Given the description of an element on the screen output the (x, y) to click on. 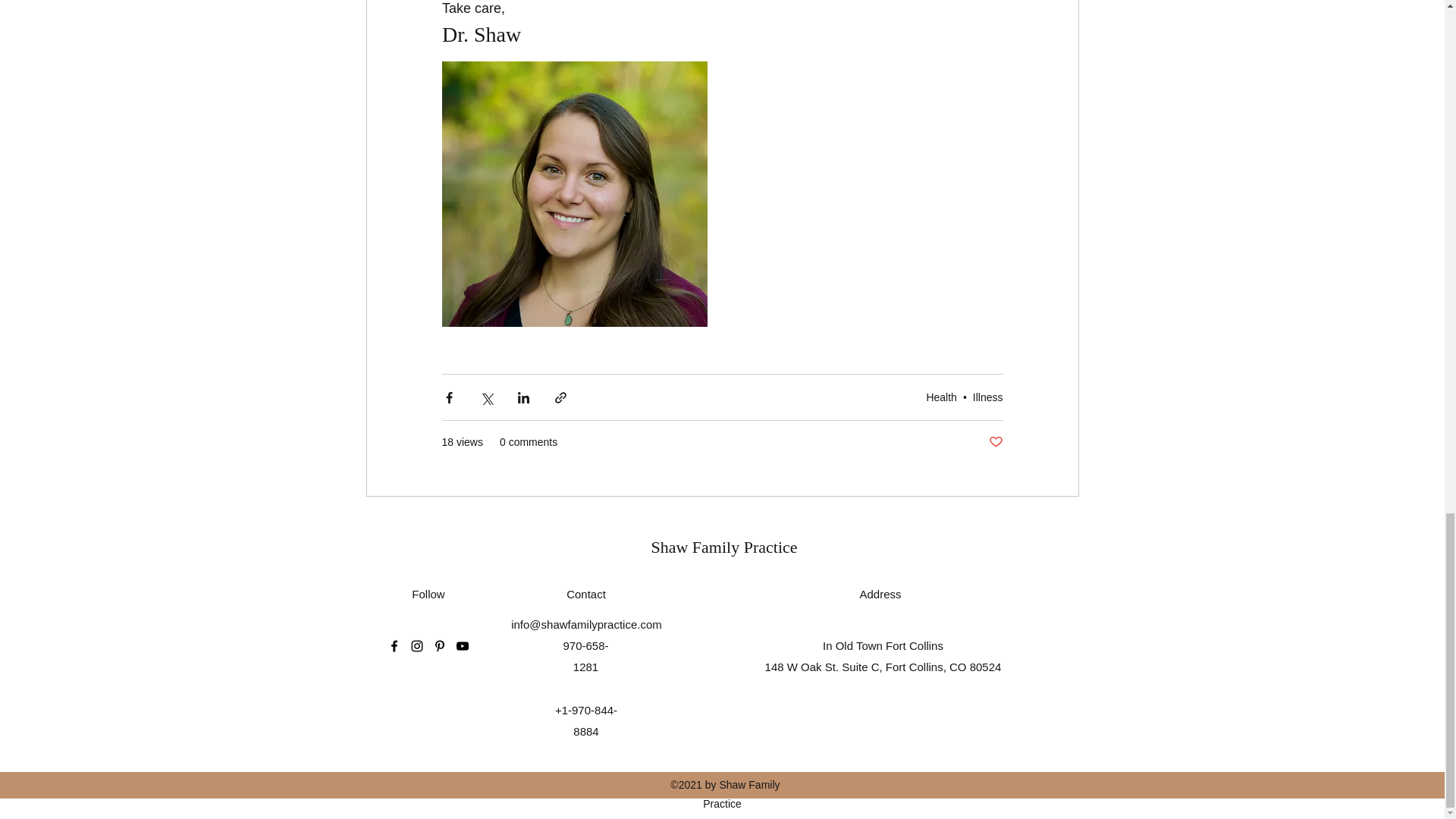
Illness (987, 396)
Health (941, 396)
Post not marked as liked (995, 442)
